Given the description of an element on the screen output the (x, y) to click on. 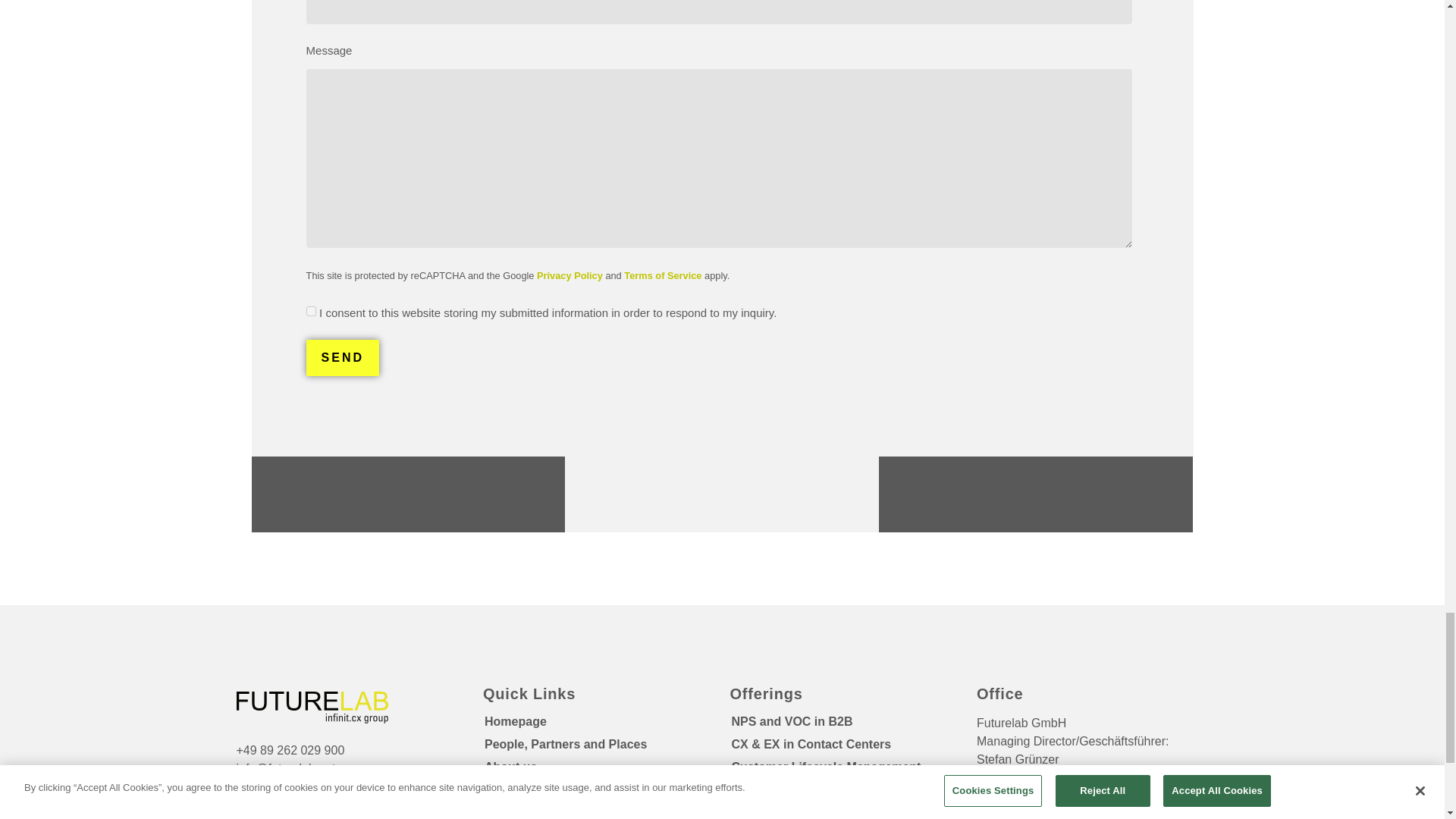
on (310, 311)
